Given the description of an element on the screen output the (x, y) to click on. 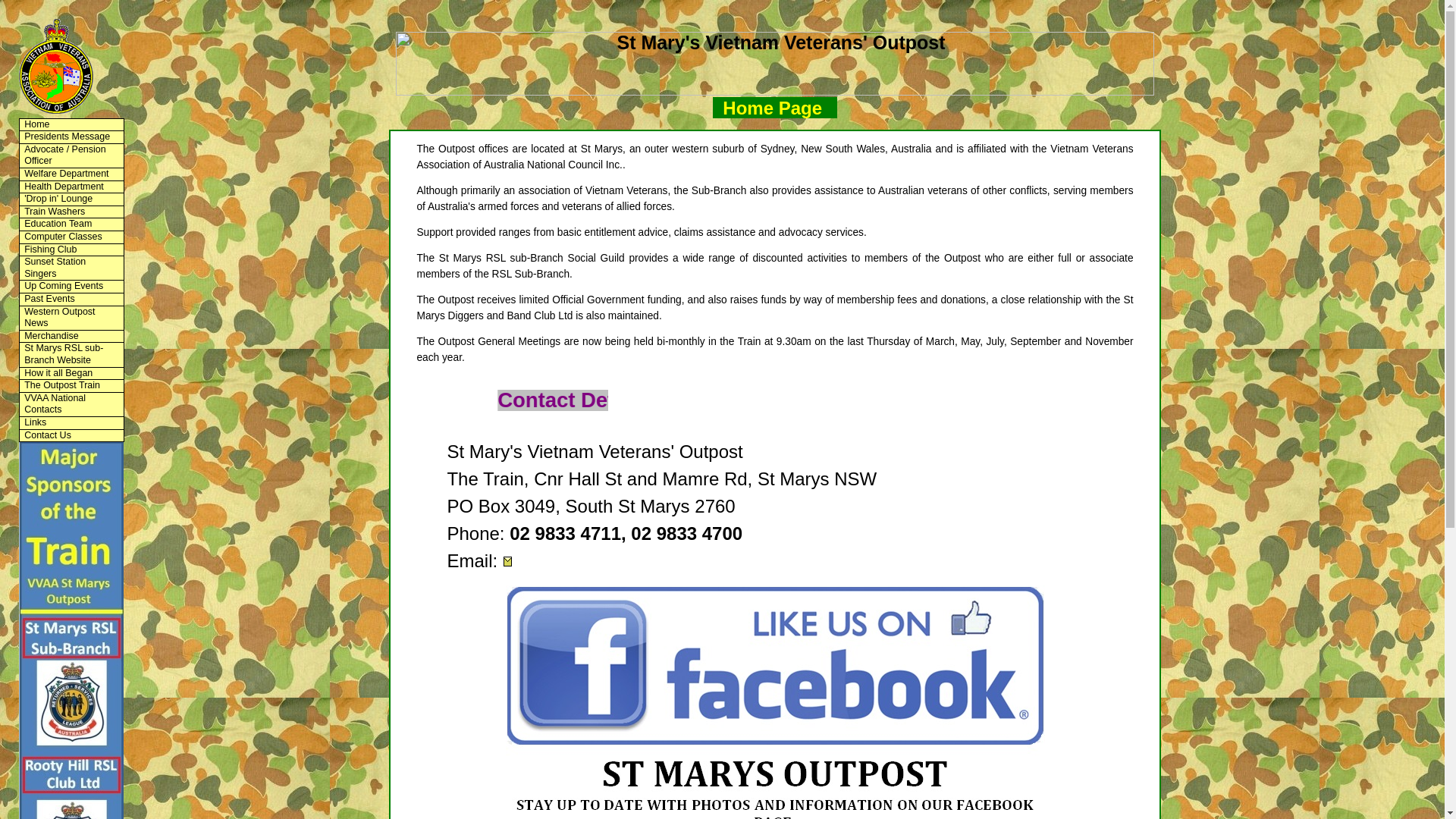
Computer Classes Element type: text (71, 237)
Train Washers Element type: text (71, 212)
The Outpost Train Element type: text (71, 385)
Welfare Department Element type: text (71, 174)
Up Coming Events Element type: text (71, 286)
How it all Began Element type: text (71, 373)
Home Element type: text (71, 124)
Past Events Element type: text (71, 299)
Fishing Club Element type: text (71, 250)
Advocate / Pension Officer Element type: text (71, 155)
Links Element type: text (71, 422)
Sunset Station Singers Element type: text (71, 267)
Health Department Element type: text (71, 187)
Merchandise Element type: text (71, 336)
St Mary's Vietnam Veterans' Outpost Element type: hover (774, 63)
Western Outpost News Element type: text (71, 317)
Contact Us Element type: text (71, 435)
St Mary's Vietnam Veterans' Outpost Element type: hover (55, 65)
'Drop in' Lounge Element type: text (71, 199)
Presidents Message Element type: text (71, 137)
Education Team Element type: text (71, 224)
VVAA National Contacts Element type: text (71, 404)
St Marys RSL sub-Branch Website Element type: text (71, 354)
